Given the description of an element on the screen output the (x, y) to click on. 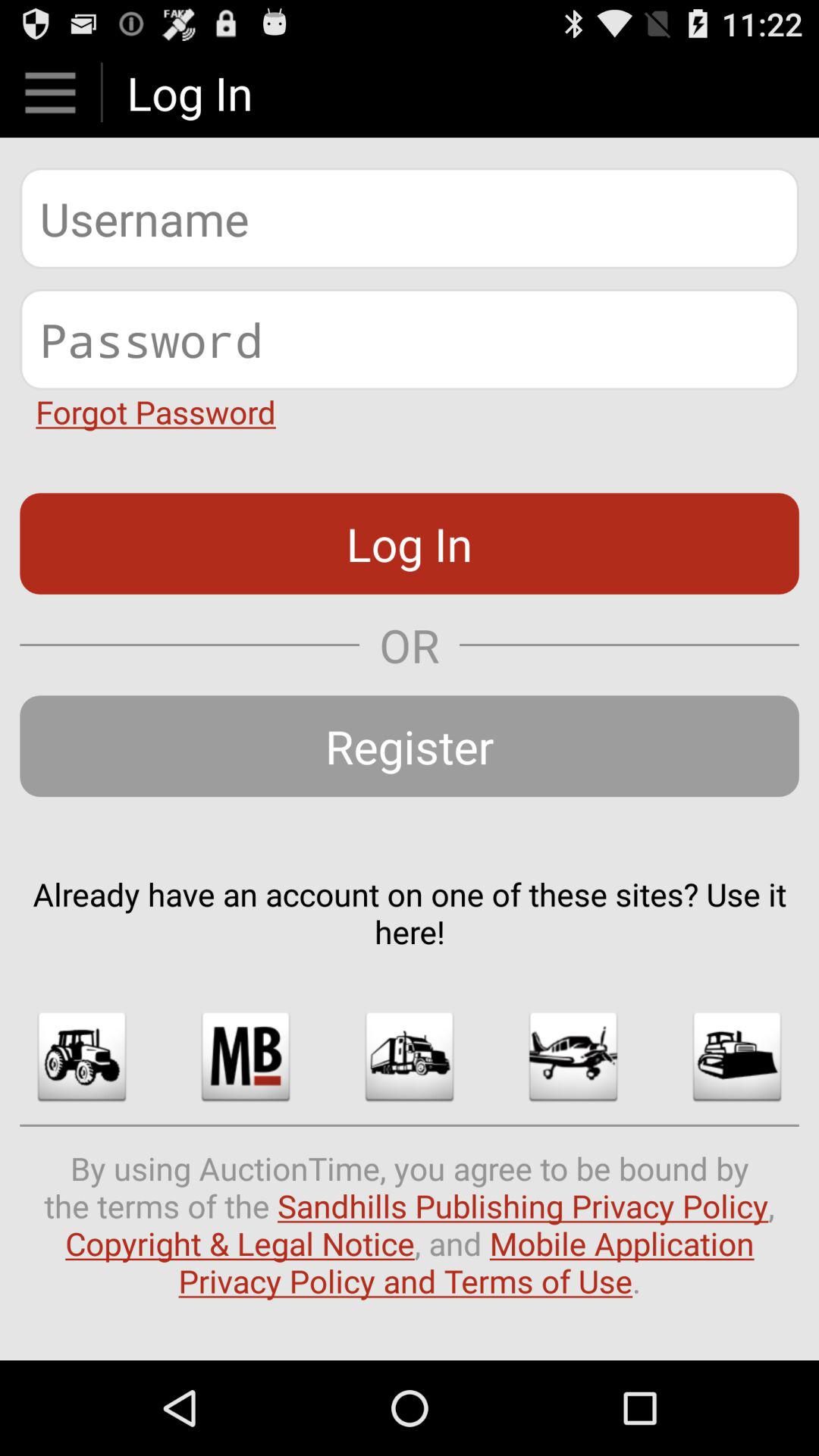
choose the register item (409, 745)
